Given the description of an element on the screen output the (x, y) to click on. 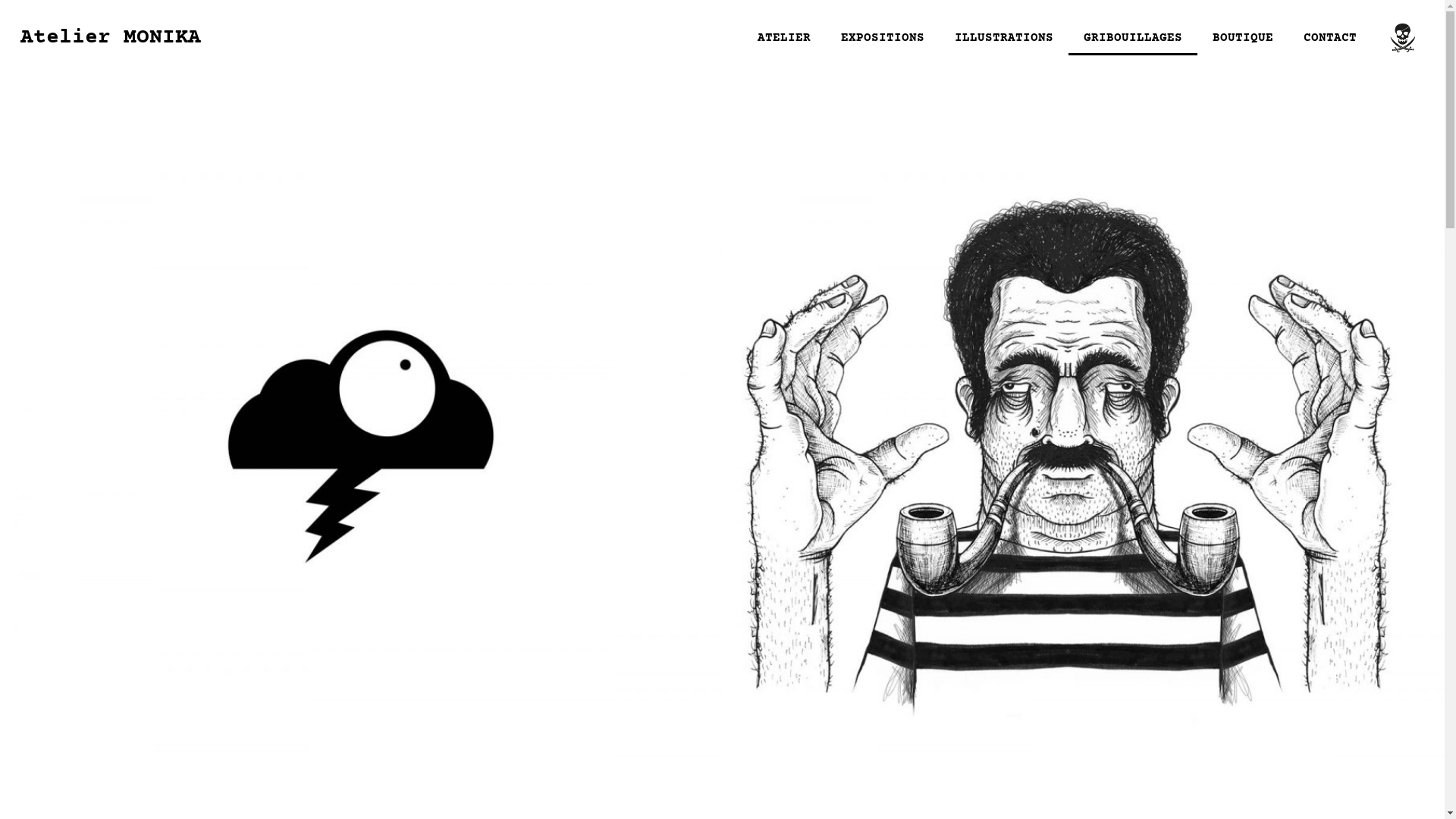
GRIBOUILLAGES Element type: text (1132, 37)
BOUTIQUE Element type: text (1242, 37)
EXPOSITIONS Element type: text (882, 37)
CONTACT Element type: text (1329, 37)
Atelier MONIKA Element type: text (110, 37)
ATELIER Element type: text (783, 37)
ILLUSTRATIONS Element type: text (1003, 37)
